Given the description of an element on the screen output the (x, y) to click on. 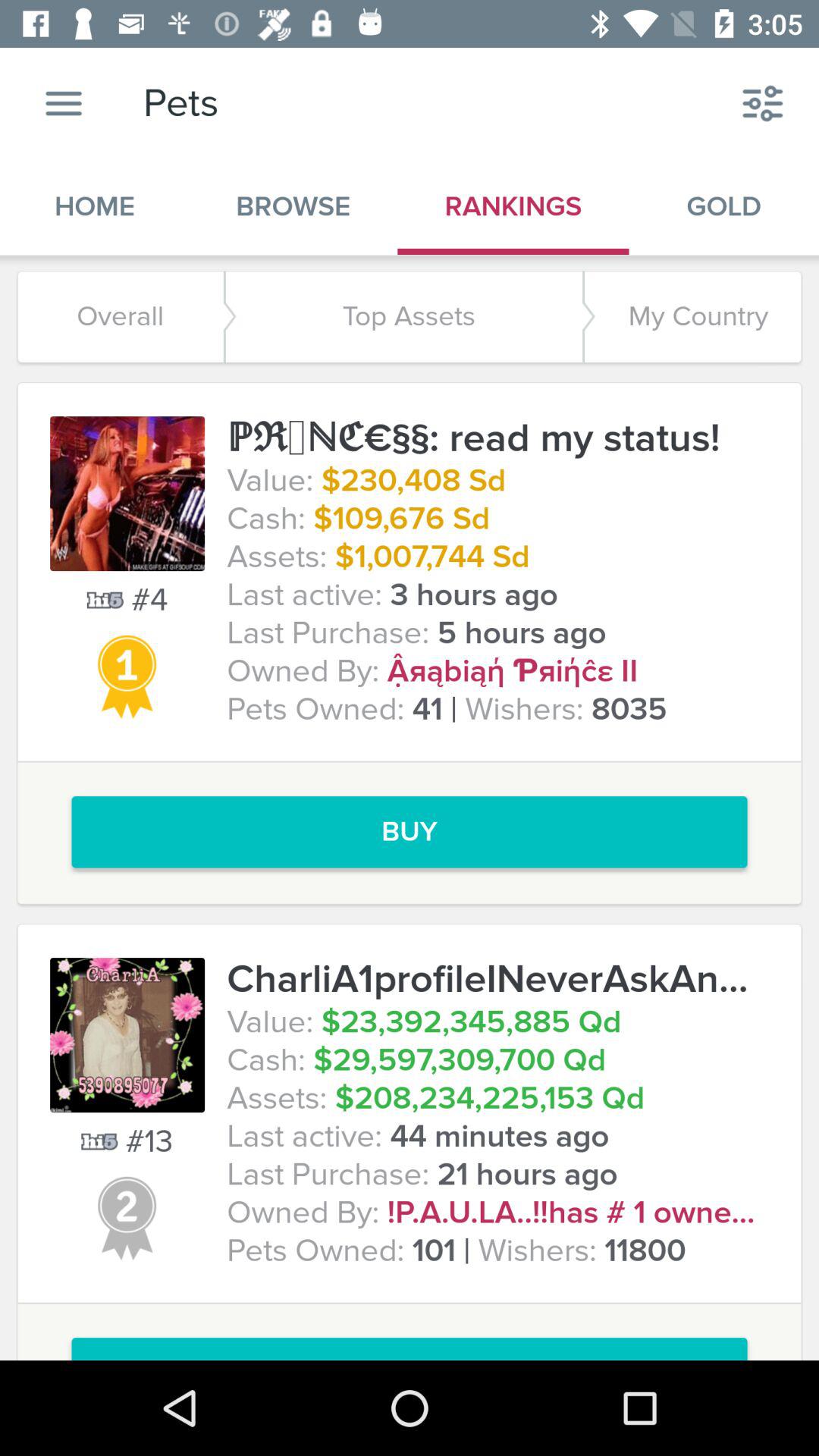
tap the app to the left of pets item (63, 103)
